Given the description of an element on the screen output the (x, y) to click on. 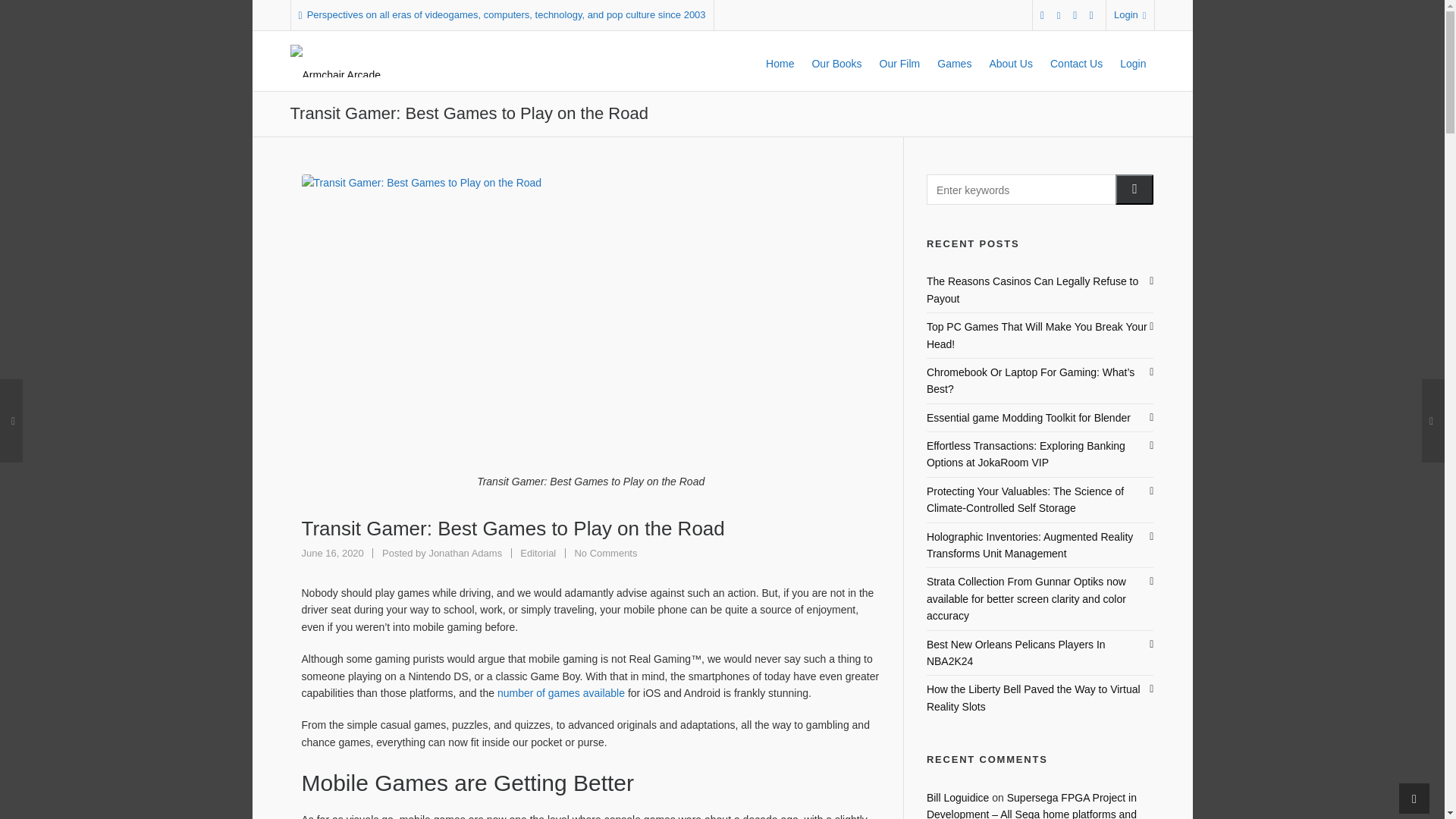
Our Film (899, 61)
No Comments (605, 552)
Login (1130, 15)
Editorial (537, 552)
Jonathan Adams (465, 552)
No Comments (465, 552)
Contact Us (605, 552)
Our Books (1076, 61)
About Us (836, 61)
number of games available (1010, 61)
